Given the description of an element on the screen output the (x, y) to click on. 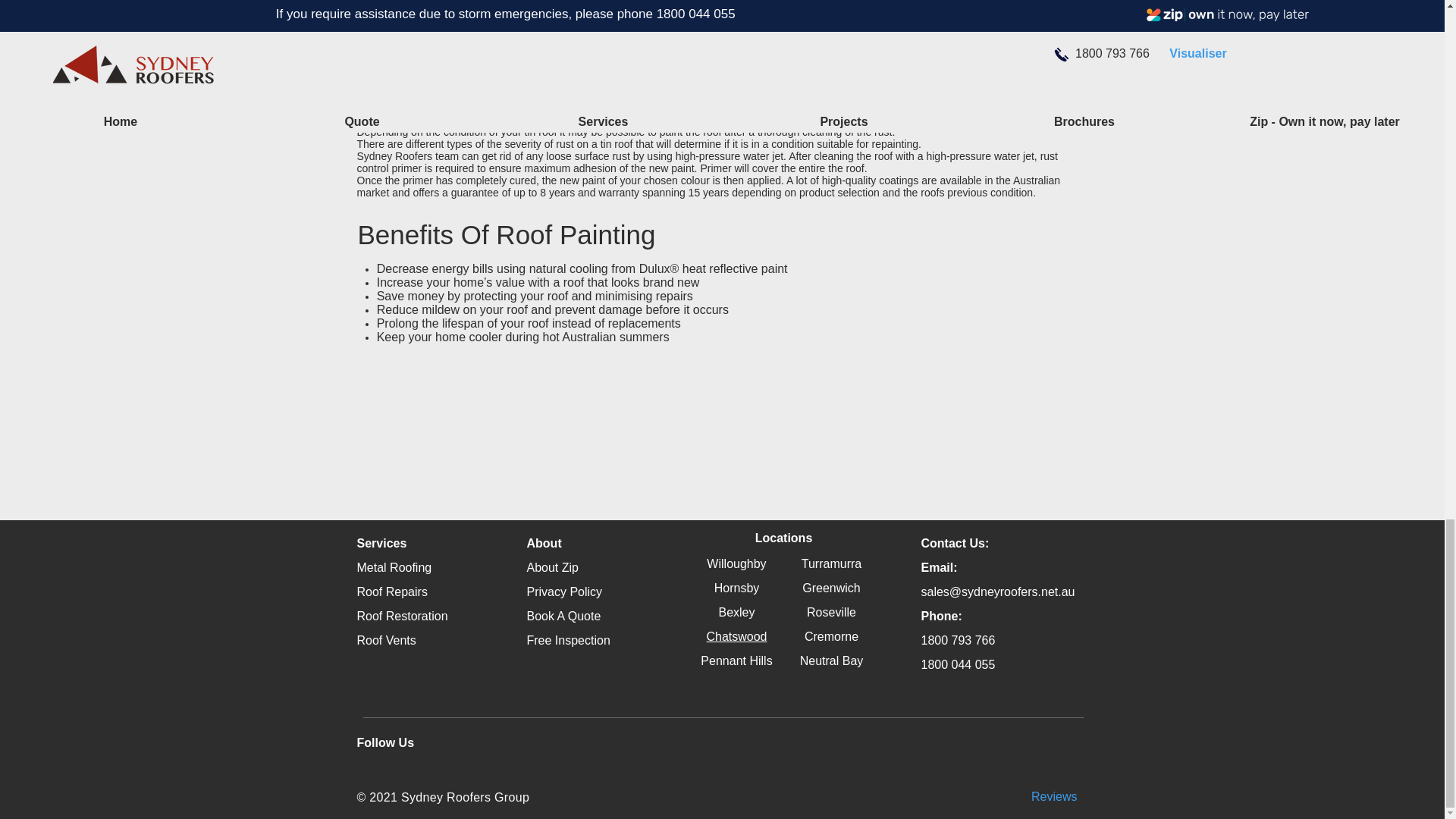
Neutral Bay (831, 660)
Greenwich (831, 587)
Privacy Policy (563, 591)
Metal Roofing (393, 567)
Free Inspection (567, 640)
Willoughby (735, 563)
Turramurra (831, 563)
Book A Quote (562, 615)
Cremorne (832, 635)
roof replacement (787, 119)
Roseville (831, 612)
About Zip (551, 567)
Roof Repairs (391, 591)
Hornsby (737, 587)
Bexley (735, 612)
